Given the description of an element on the screen output the (x, y) to click on. 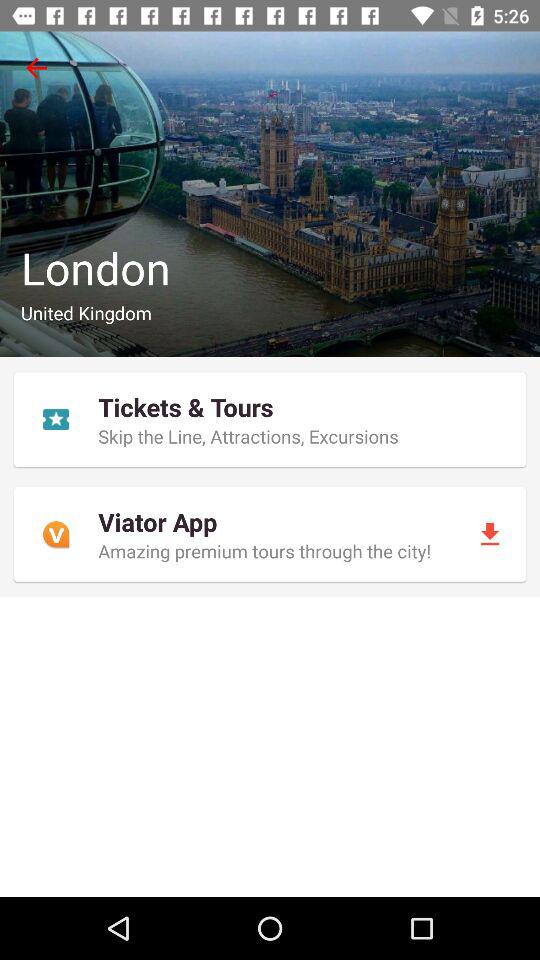
launch the icon above the london (36, 68)
